Given the description of an element on the screen output the (x, y) to click on. 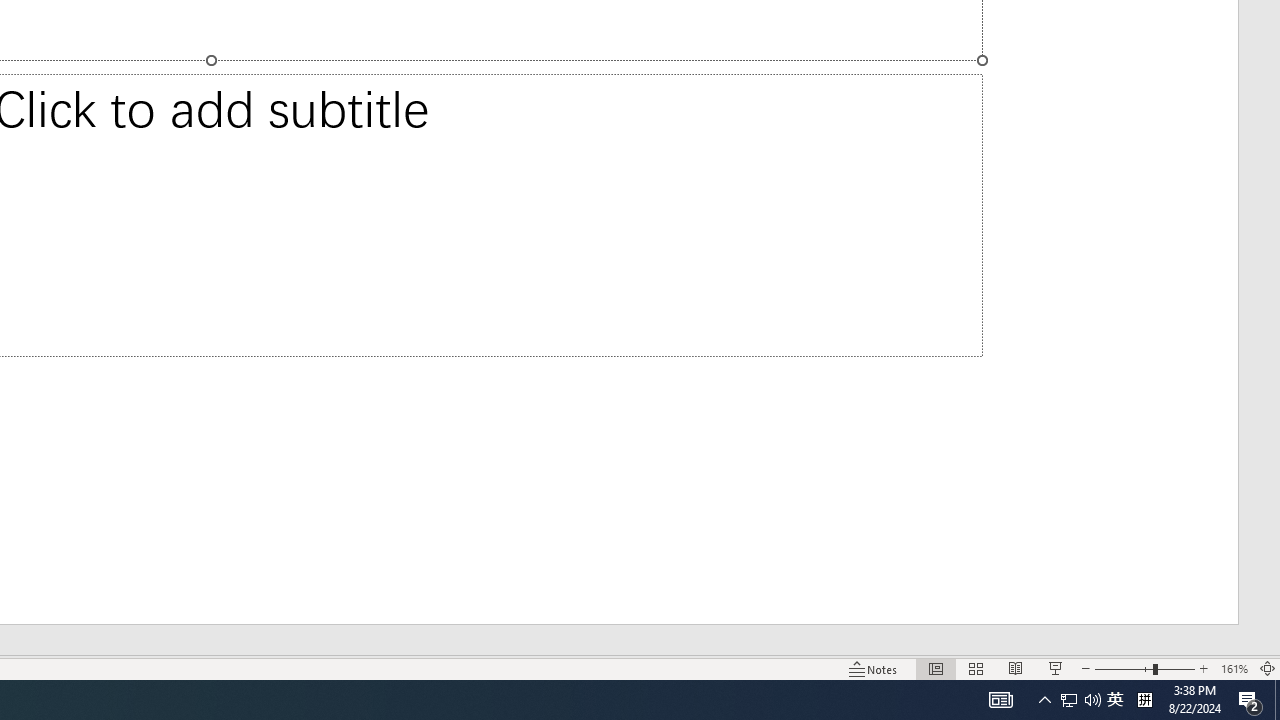
Zoom 161% (1234, 668)
